Given the description of an element on the screen output the (x, y) to click on. 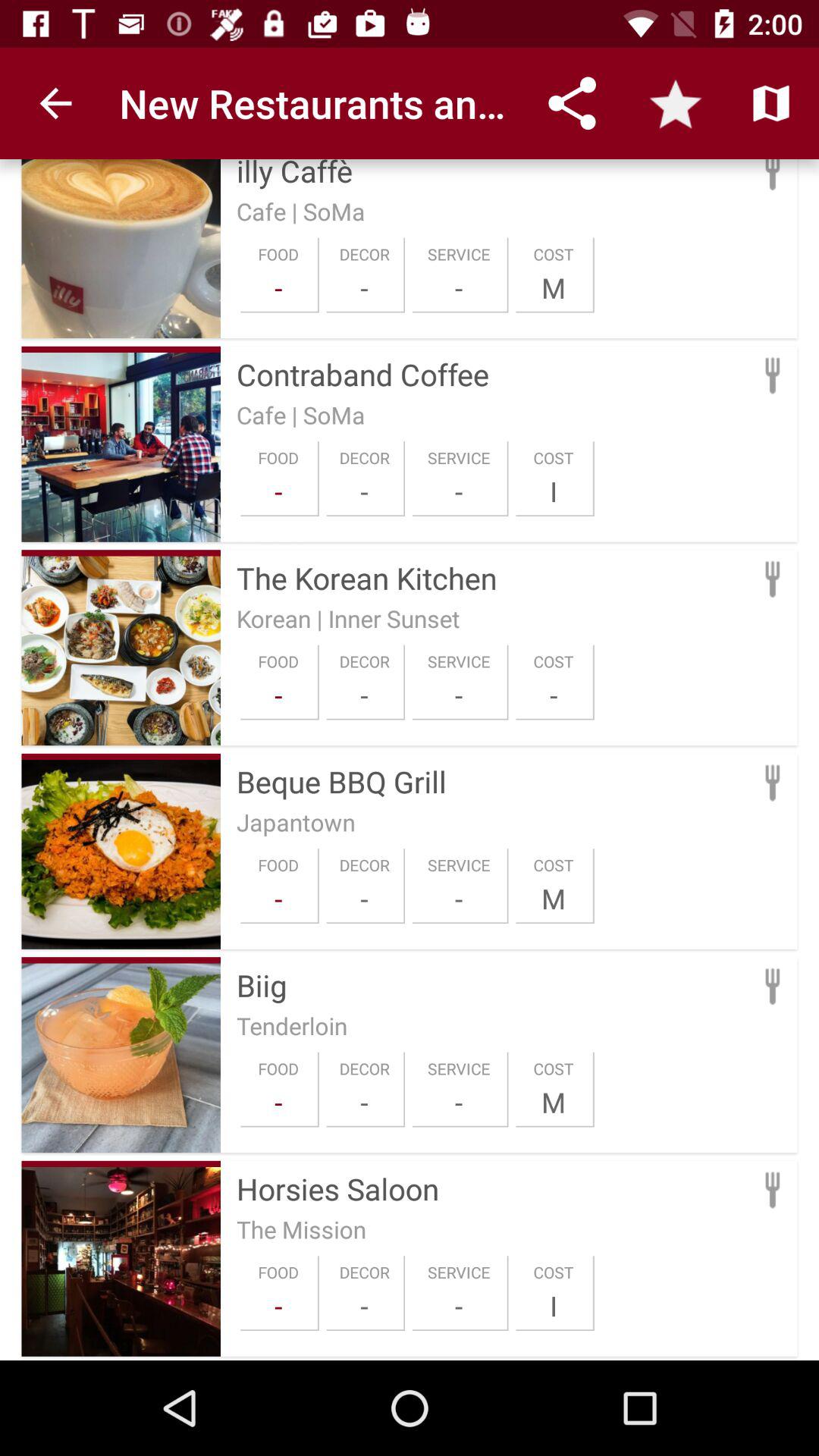
tap item above the food item (295, 821)
